Given the description of an element on the screen output the (x, y) to click on. 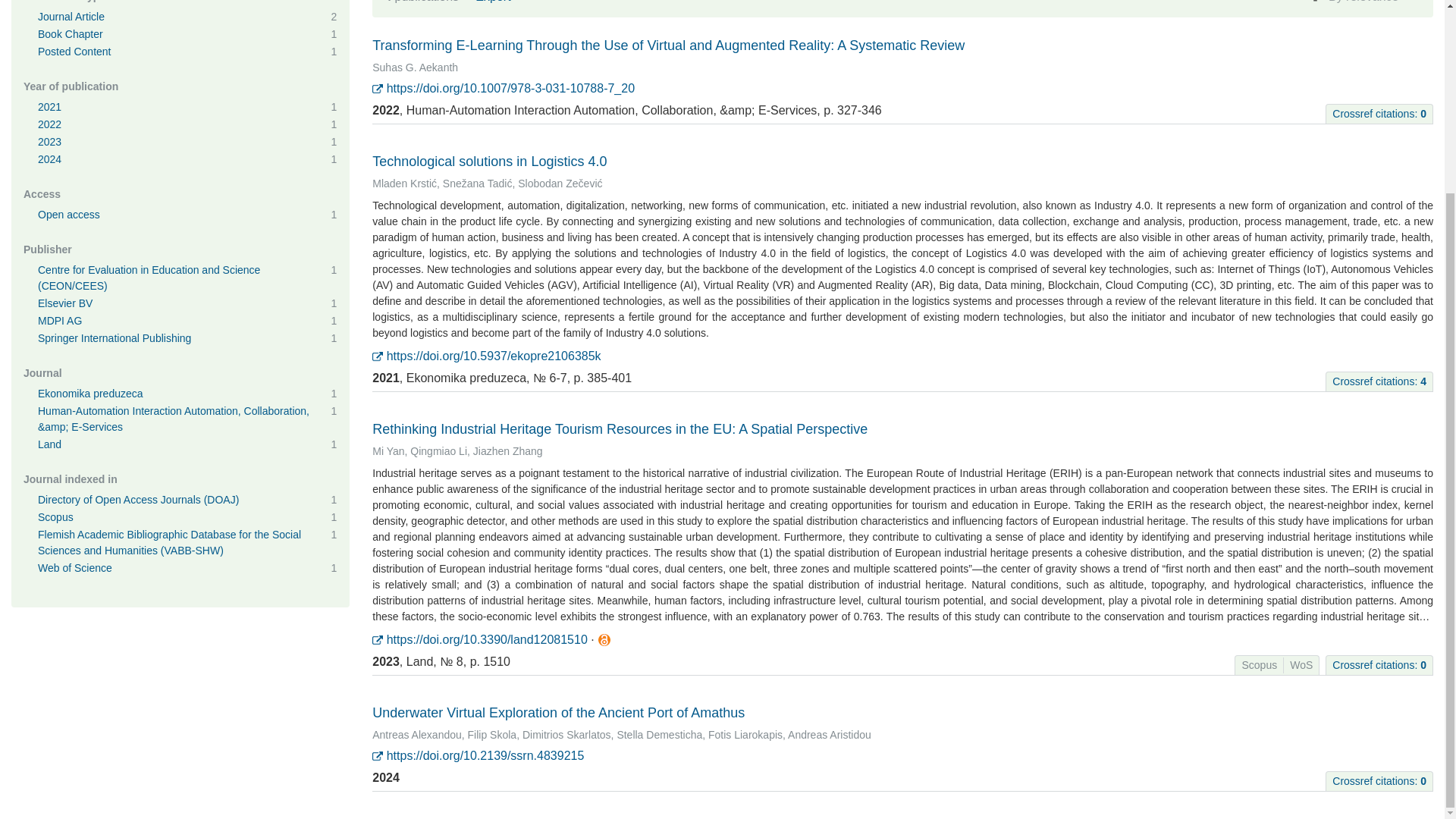
Springer International Publishing (113, 337)
Open access (68, 214)
Book Chapter (70, 33)
Ekonomika preduzeca (89, 393)
2024 (49, 159)
Journal Article (70, 16)
Elsevier BV (65, 303)
2021 (49, 106)
2023 (49, 141)
Land (49, 444)
Scopus (55, 517)
Posted Content (74, 51)
2022 (49, 123)
MDPI AG (59, 320)
